Given the description of an element on the screen output the (x, y) to click on. 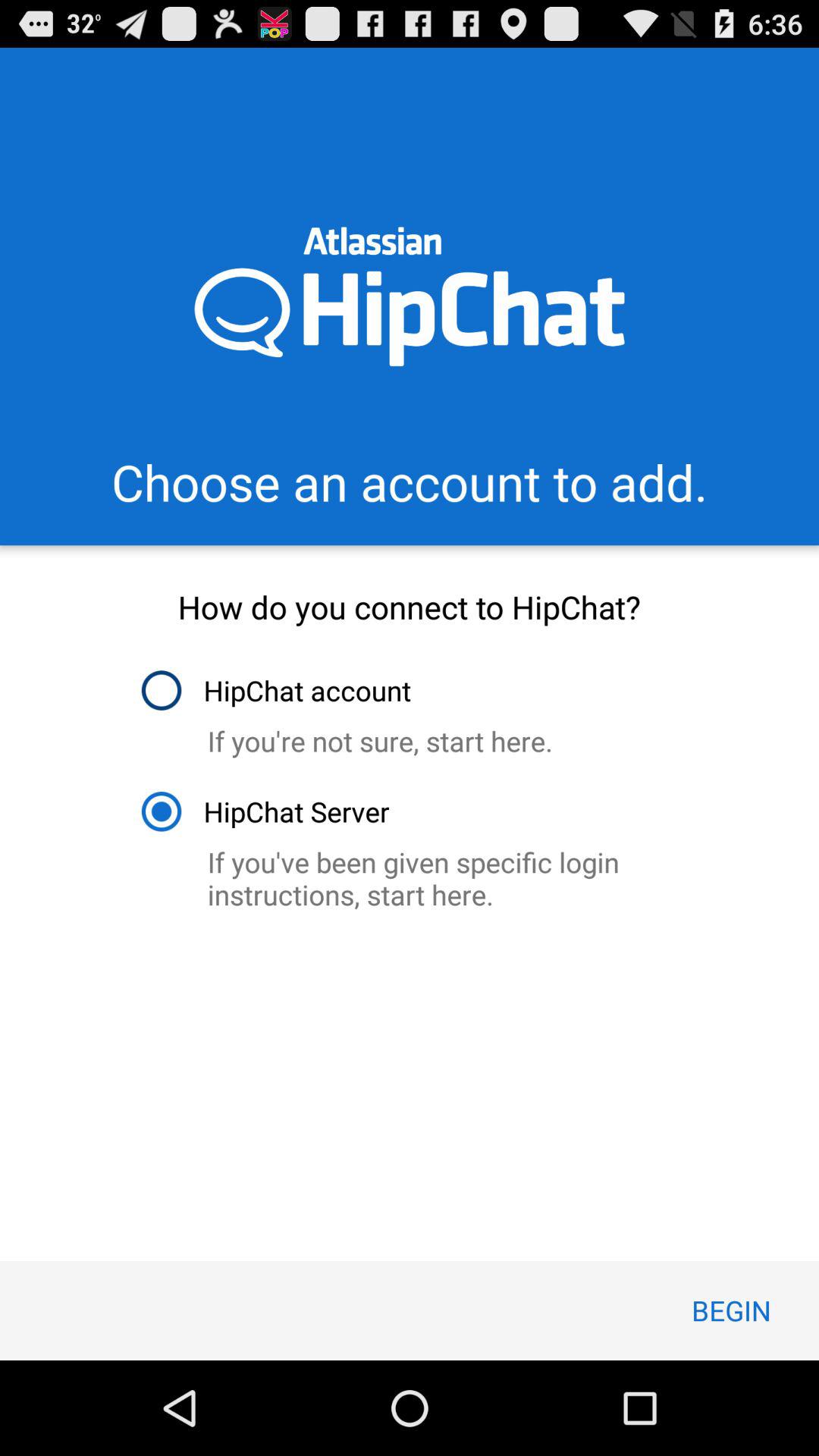
turn on icon below the if you ve item (731, 1310)
